Given the description of an element on the screen output the (x, y) to click on. 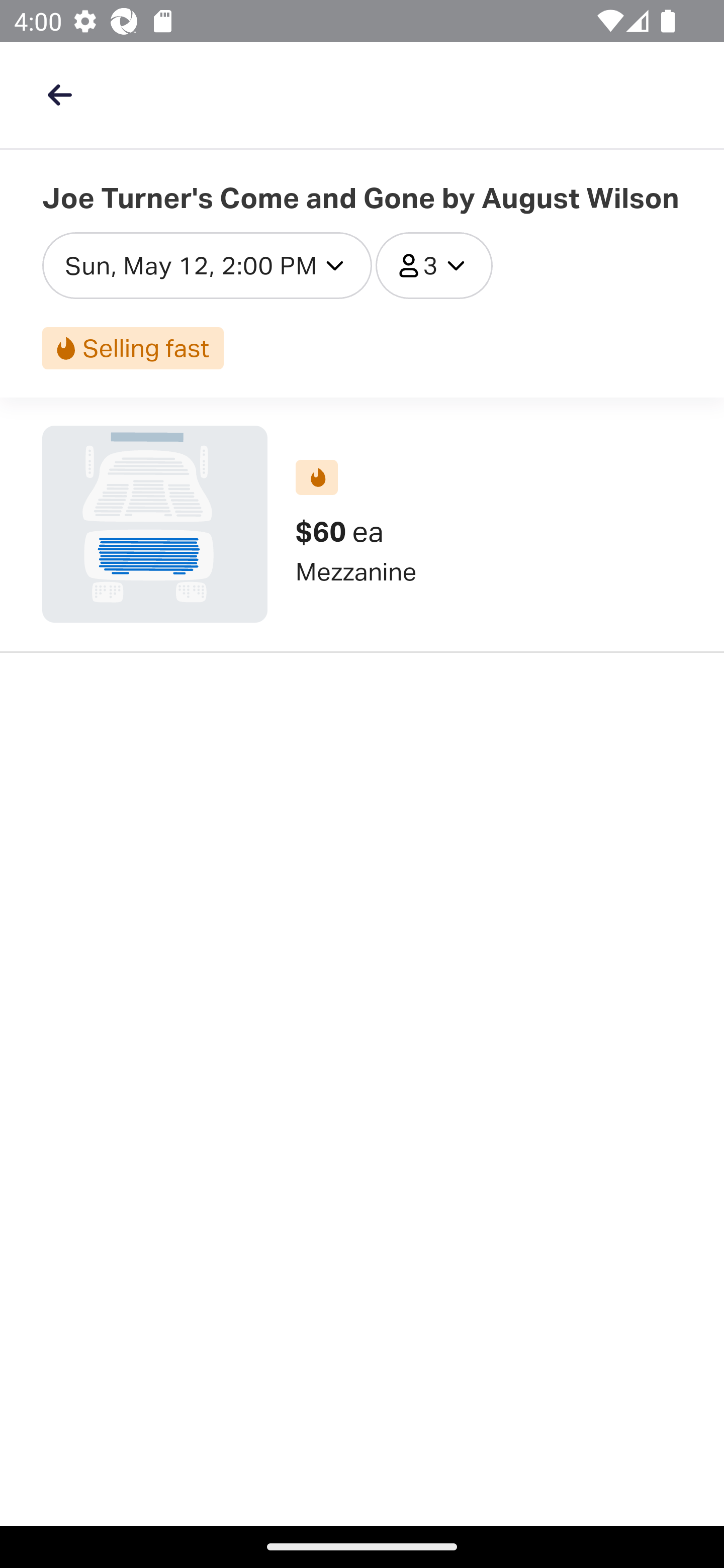
back button (59, 94)
Sun, May 12, 2:00 PM (206, 265)
3 (434, 265)
Selling fast $60ea Mezzanine (362, 524)
